Given the description of an element on the screen output the (x, y) to click on. 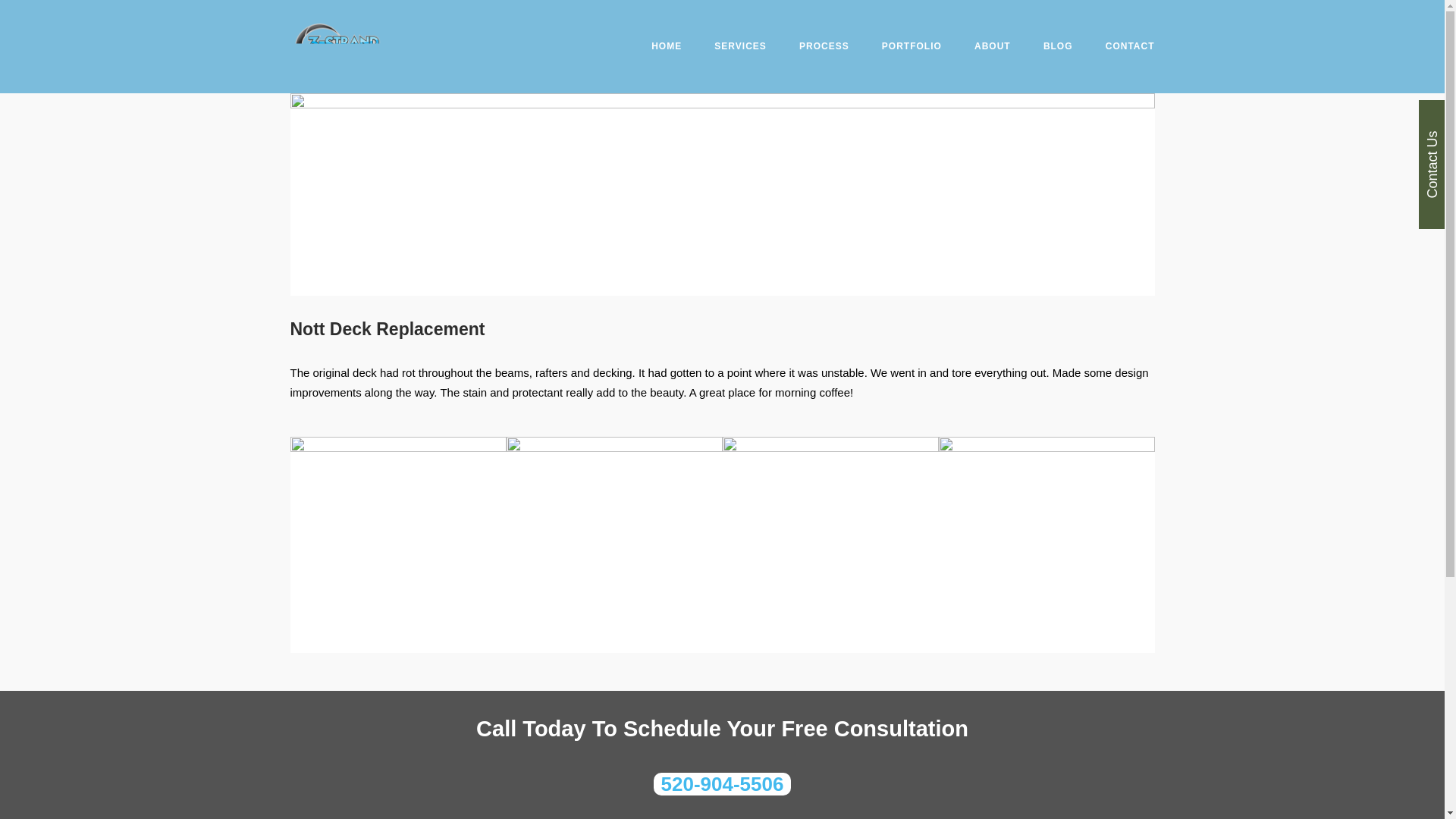
ABOUT (992, 48)
PROCESS (823, 48)
HOME (665, 48)
SERVICES (739, 47)
520-904-5506 (722, 784)
CONTACT (1129, 48)
BLOG (1058, 48)
PORTFOLIO (912, 48)
